Given the description of an element on the screen output the (x, y) to click on. 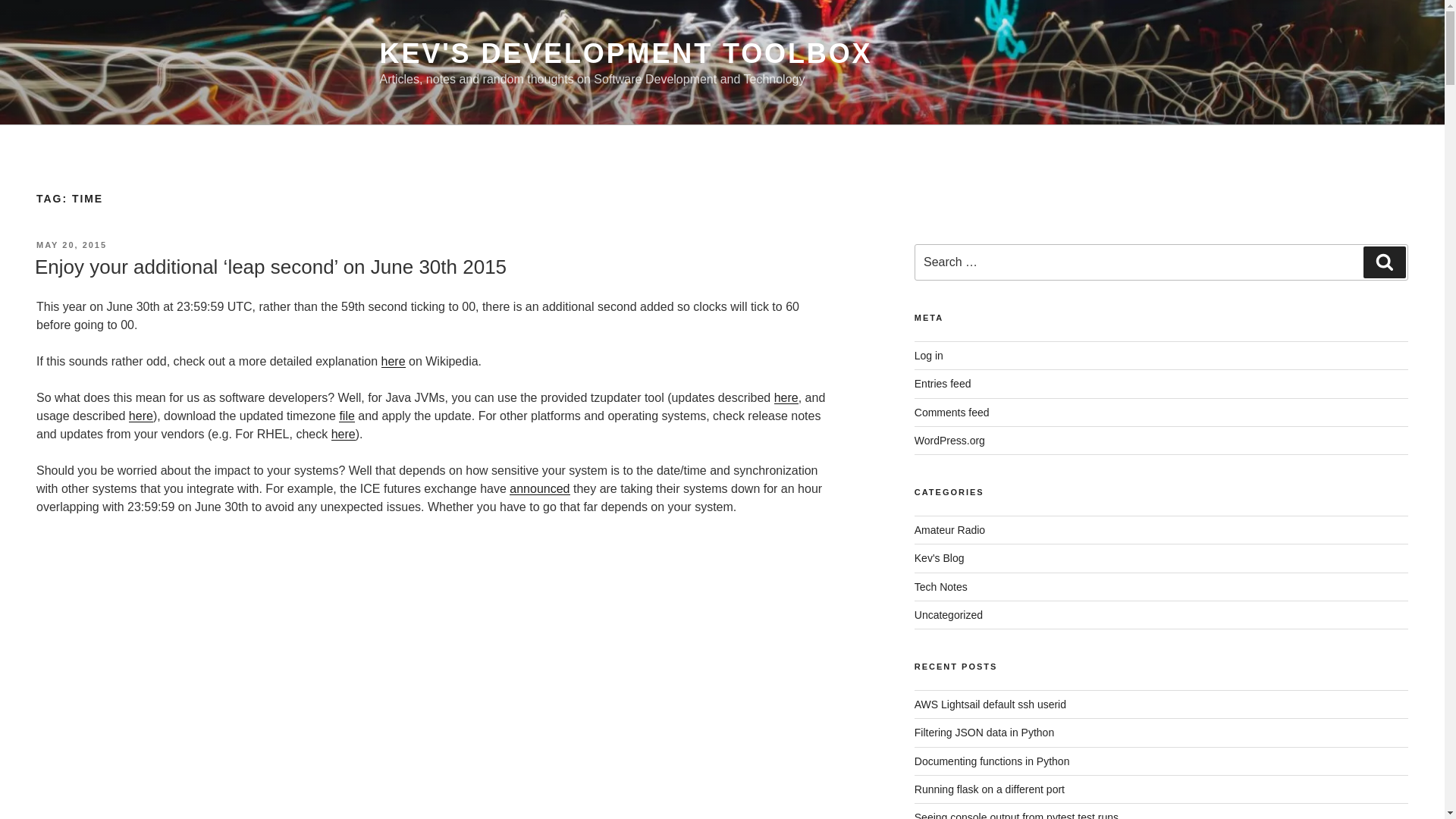
here (392, 360)
Uncategorized (948, 614)
announced (539, 488)
WordPress.org (949, 440)
Search (1384, 262)
KEV'S DEVELOPMENT TOOLBOX (625, 52)
Kev's Blog (938, 558)
Entries feed (942, 383)
file (346, 415)
Running flask on a different port (989, 788)
